Given the description of an element on the screen output the (x, y) to click on. 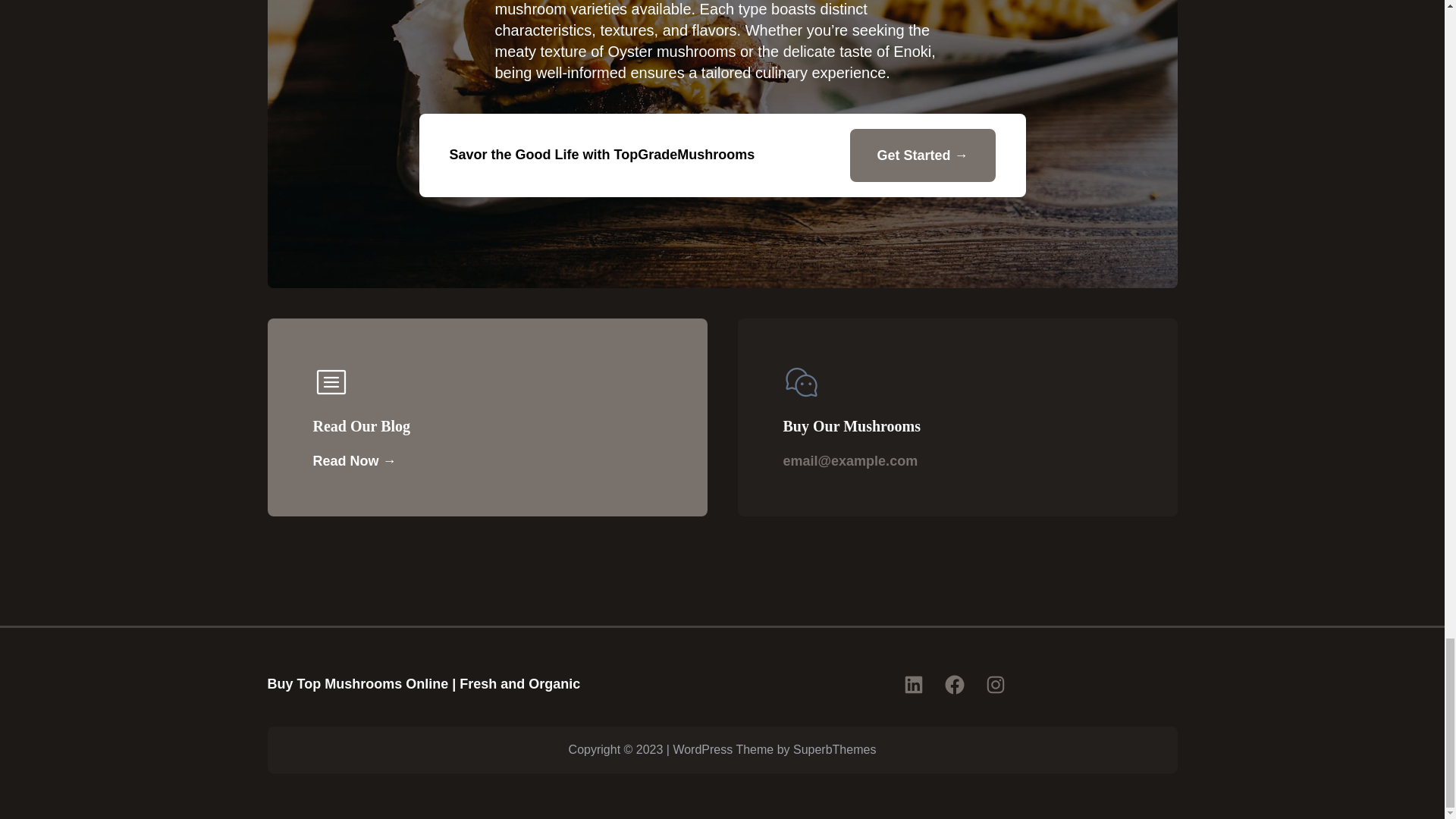
Instagram (995, 684)
SuperbThemes (834, 748)
Facebook (954, 684)
LinkedIn (913, 684)
